Given the description of an element on the screen output the (x, y) to click on. 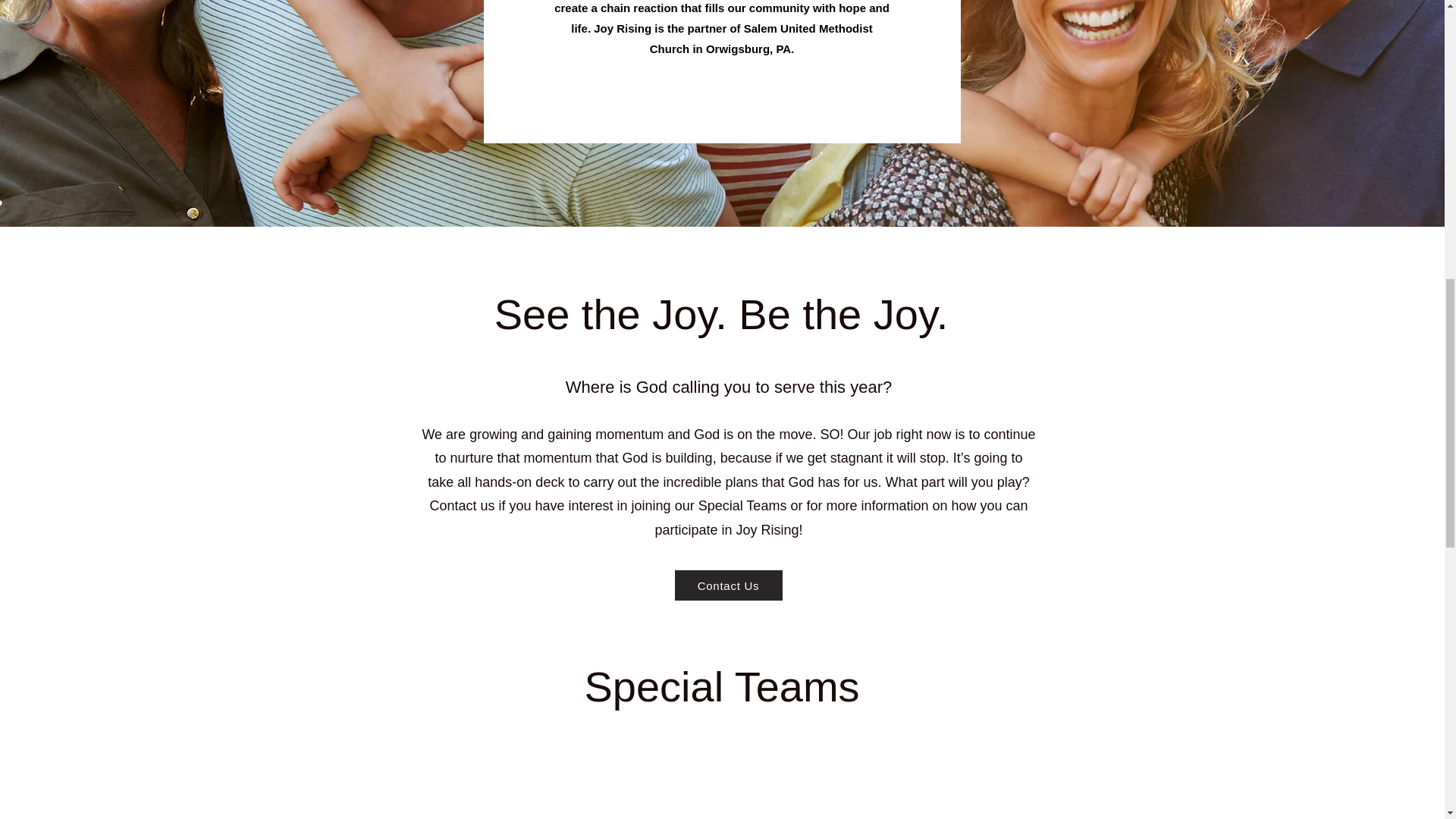
Contact Us (729, 585)
